Given the description of an element on the screen output the (x, y) to click on. 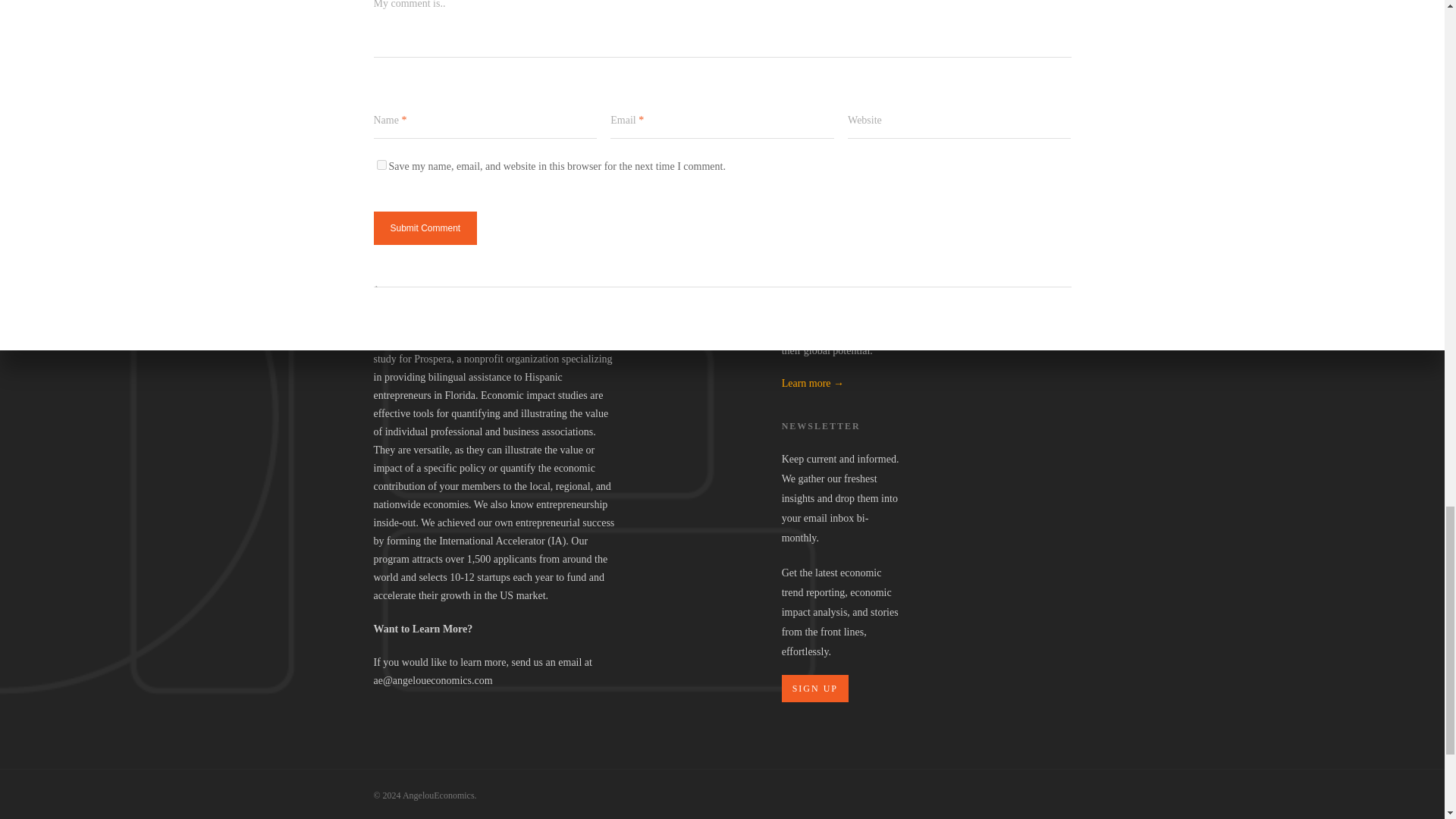
yes (380, 164)
Submit Comment (424, 227)
